Given the description of an element on the screen output the (x, y) to click on. 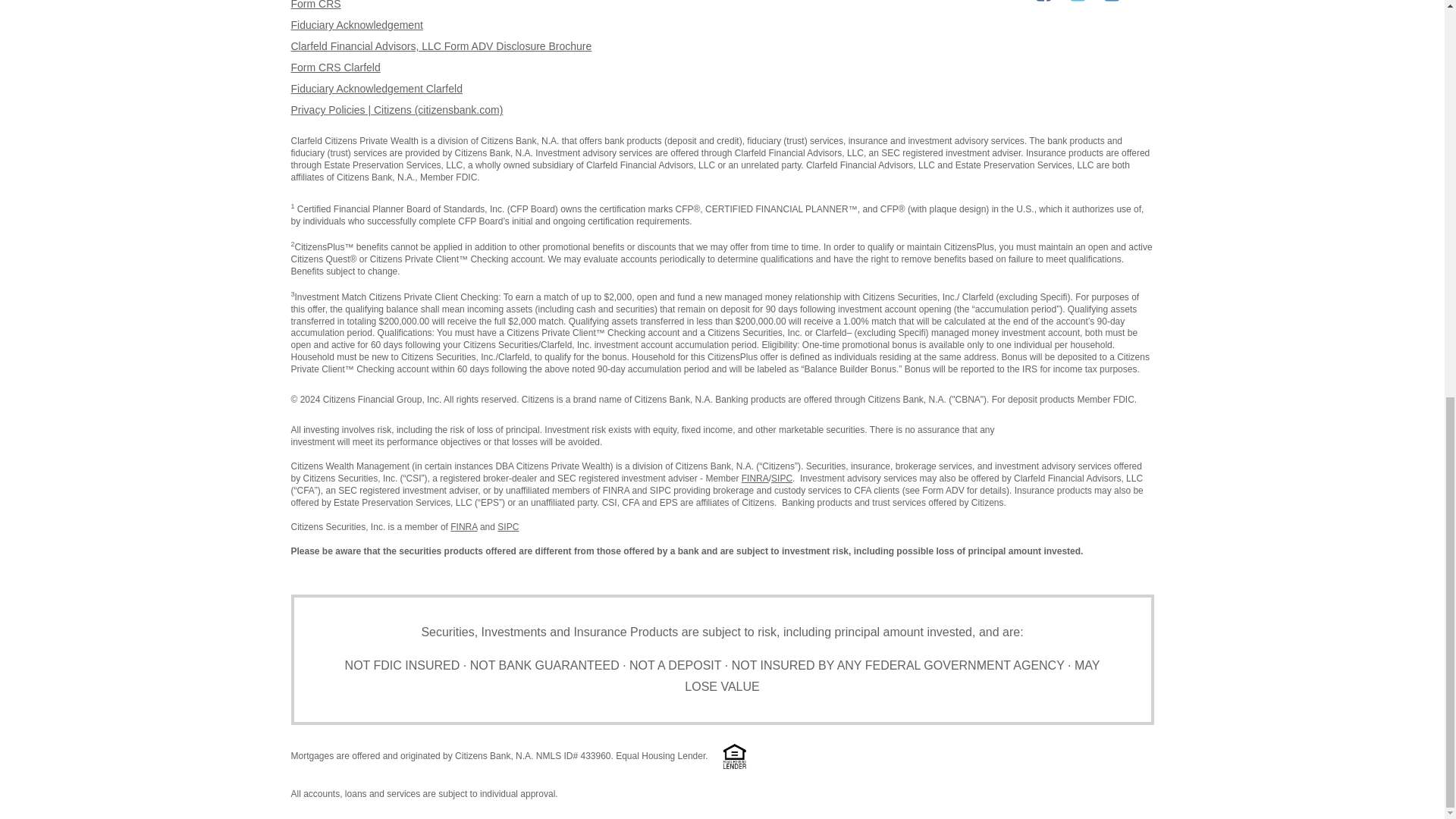
FINRA (463, 526)
 Link Opens in New Tab (377, 88)
FINRA (781, 478)
SIPC (754, 478)
 Link Opens in New Tab (335, 67)
 Link Opens in New Tab (507, 526)
